Given the description of an element on the screen output the (x, y) to click on. 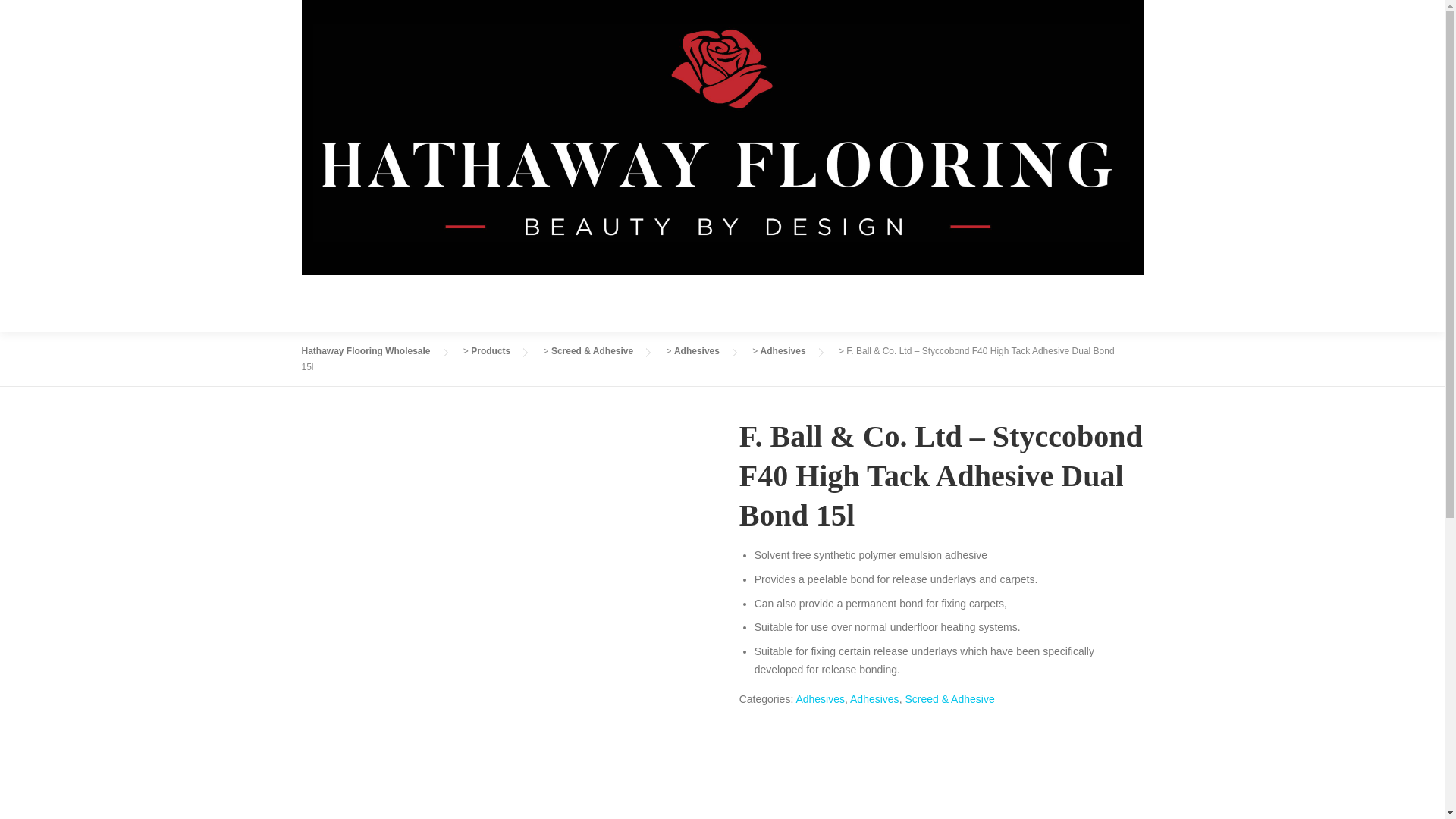
CONTACT (1109, 303)
ABOUT (835, 303)
TRADE (1045, 303)
HOME (774, 303)
Adhesives (819, 698)
Go to the Adhesives Category archives. (783, 350)
Products (490, 350)
Go to the Adhesives Category archives. (696, 350)
Adhesives (696, 350)
NEWS (984, 303)
